Given the description of an element on the screen output the (x, y) to click on. 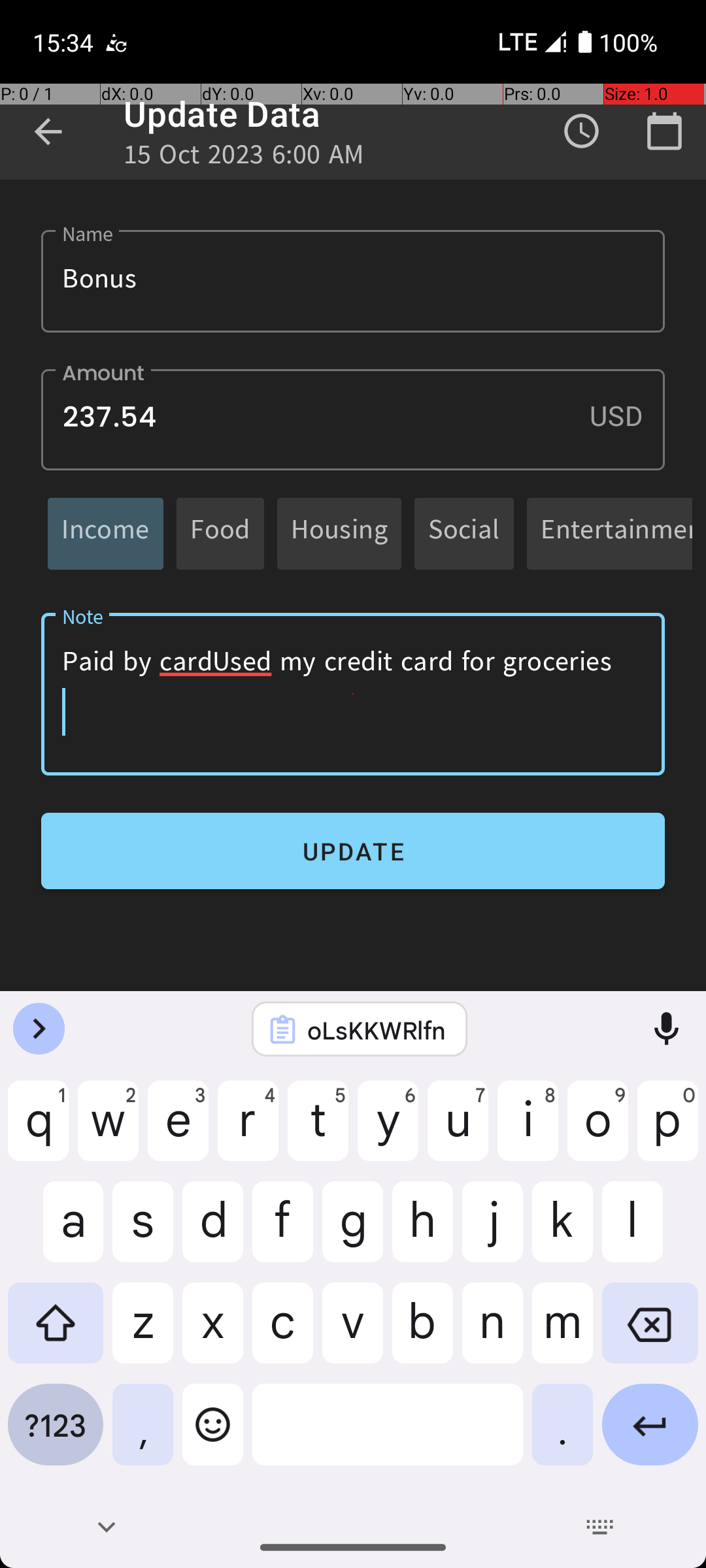
15 Oct 2023 6:00 AM Element type: android.widget.TextView (243, 157)
Bonus Element type: android.widget.EditText (352, 280)
237.54 Element type: android.widget.EditText (352, 419)
Paid by cardUsed my credit card for groceries
 Element type: android.widget.EditText (352, 693)
oLsKKWRlfn Element type: android.widget.TextView (376, 1029)
